Given the description of an element on the screen output the (x, y) to click on. 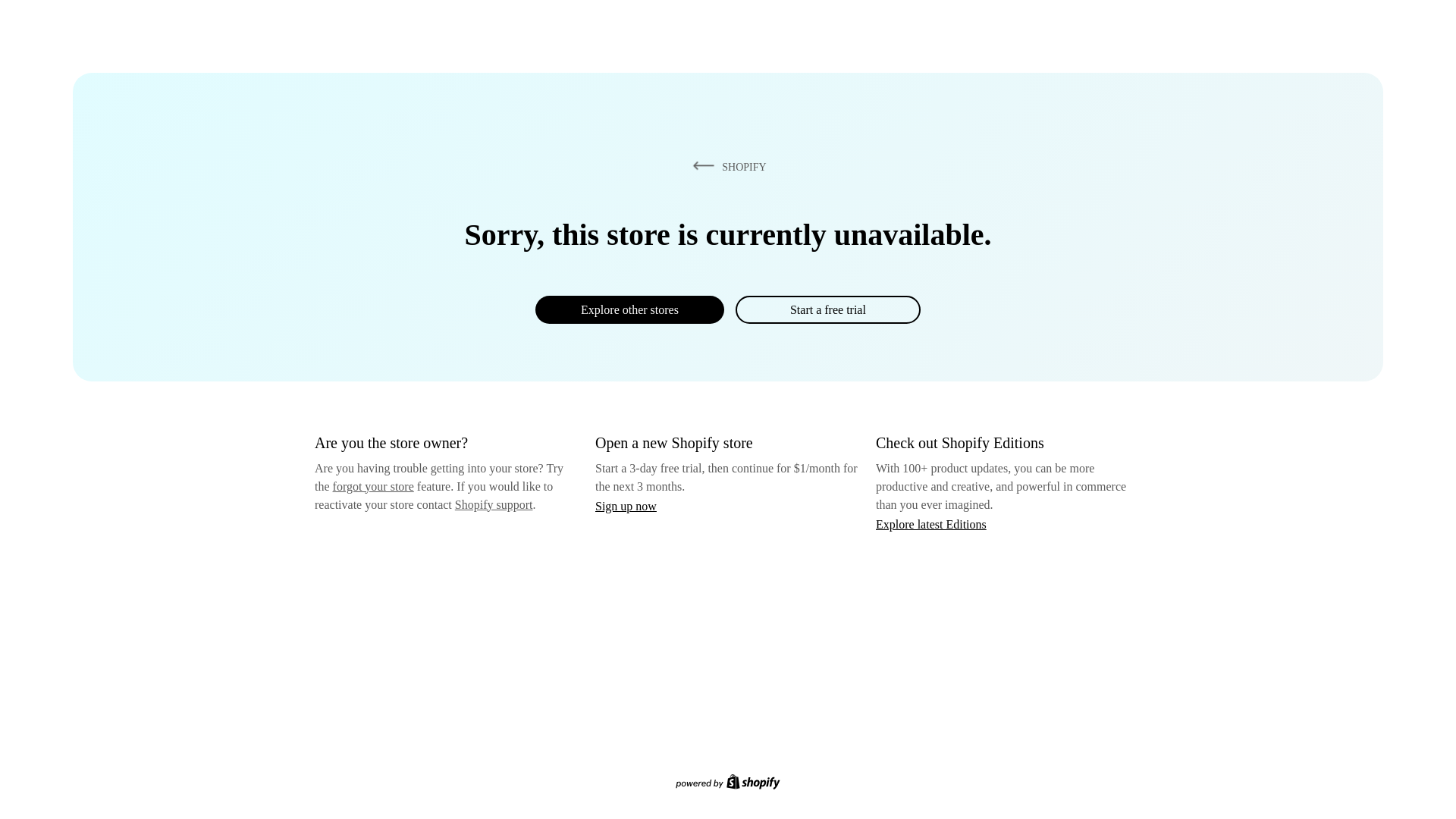
Explore other stores (629, 309)
Sign up now (625, 505)
Shopify support (493, 504)
Explore latest Editions (931, 523)
Start a free trial (827, 309)
forgot your store (373, 486)
SHOPIFY (726, 166)
